Given the description of an element on the screen output the (x, y) to click on. 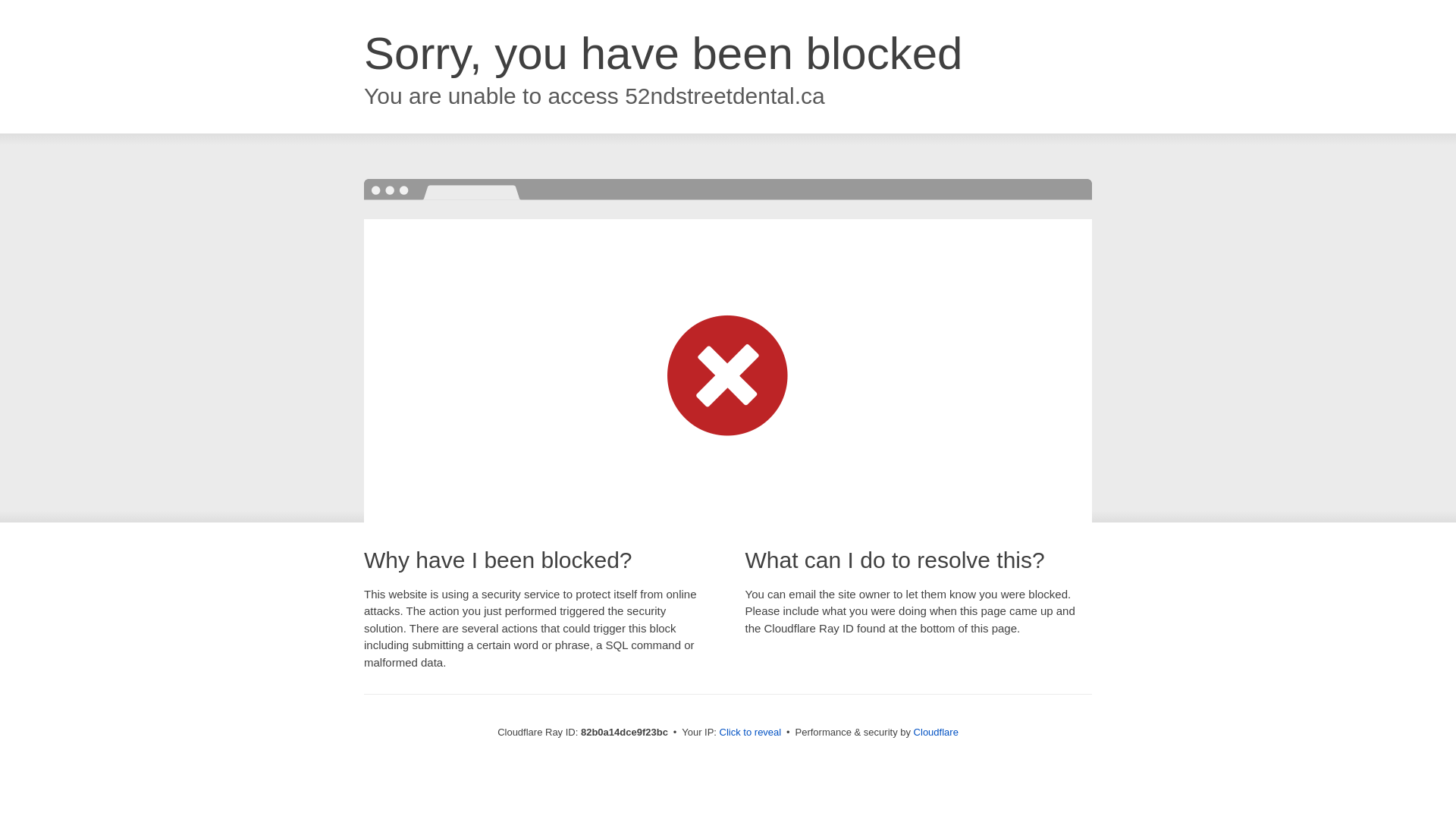
Click to reveal Element type: text (750, 732)
Cloudflare Element type: text (935, 731)
